Given the description of an element on the screen output the (x, y) to click on. 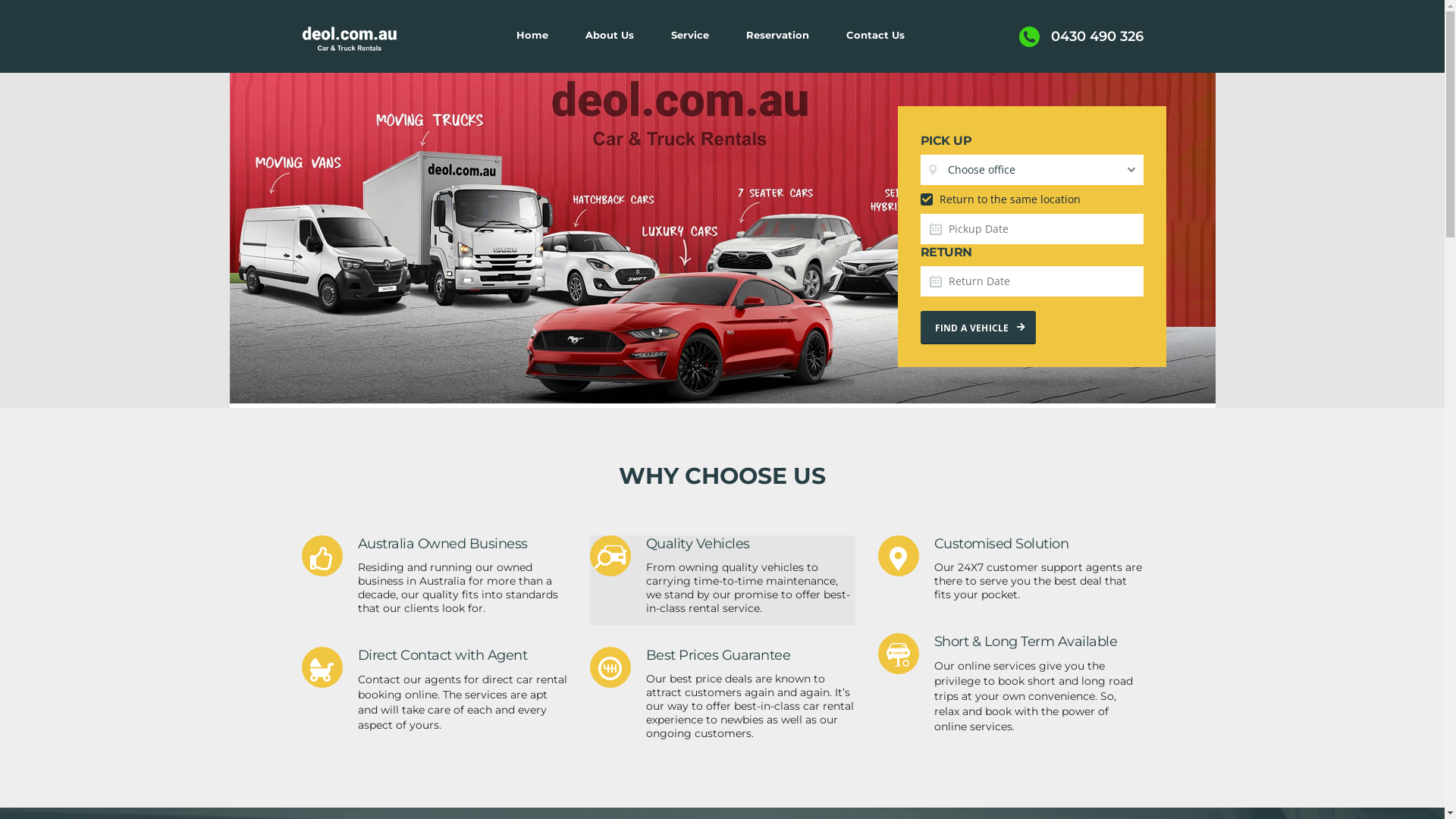
0430 490 326 Element type: text (1081, 35)
About Us Element type: text (609, 34)
Reservation Element type: text (777, 34)
Home Element type: hover (349, 39)
Home Element type: text (532, 34)
Service Element type: text (690, 34)
FIND A VEHICLE Element type: text (978, 326)
Contact Us Element type: text (875, 34)
